Given the description of an element on the screen output the (x, y) to click on. 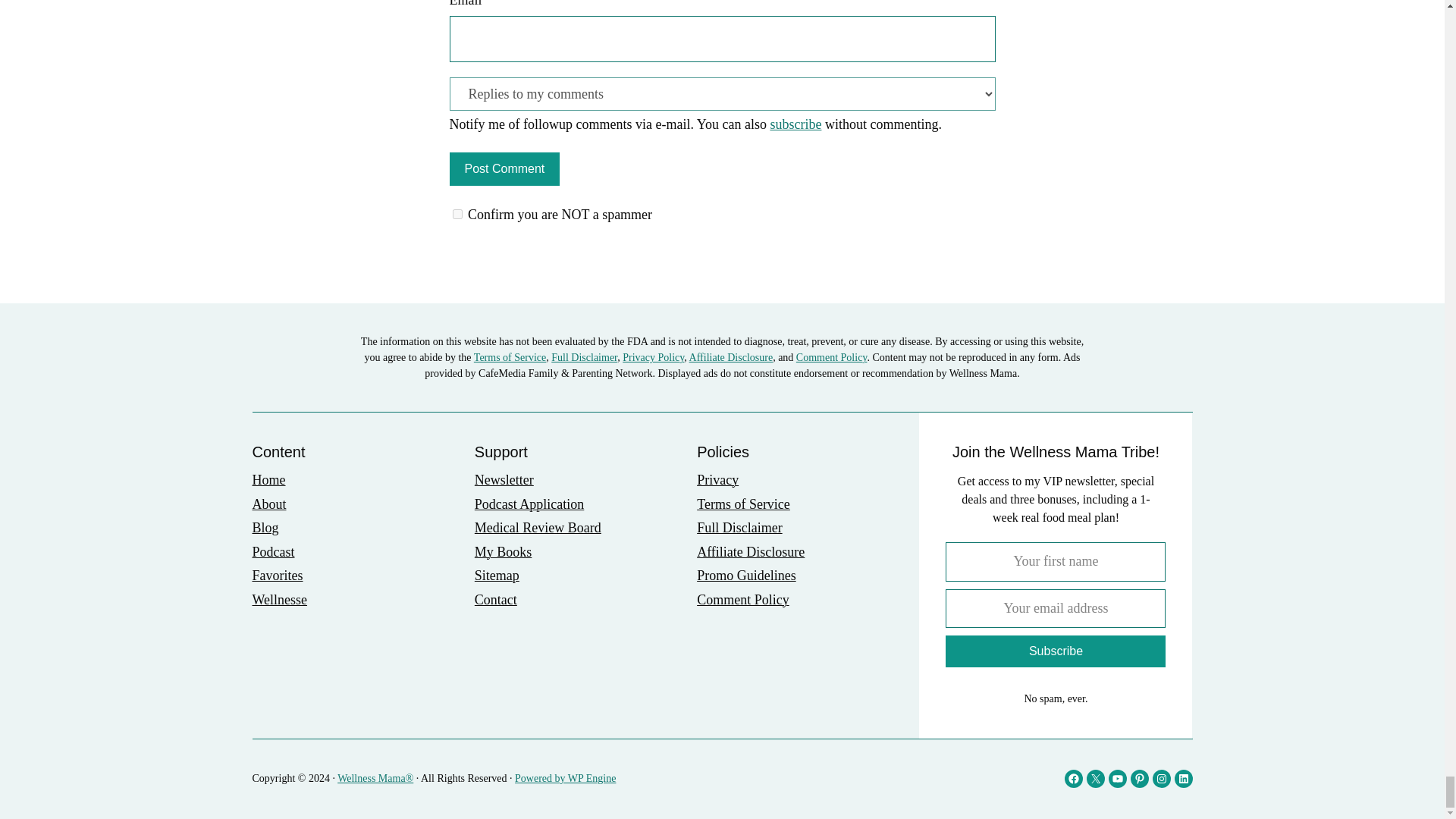
on (456, 214)
Post Comment (503, 168)
